Given the description of an element on the screen output the (x, y) to click on. 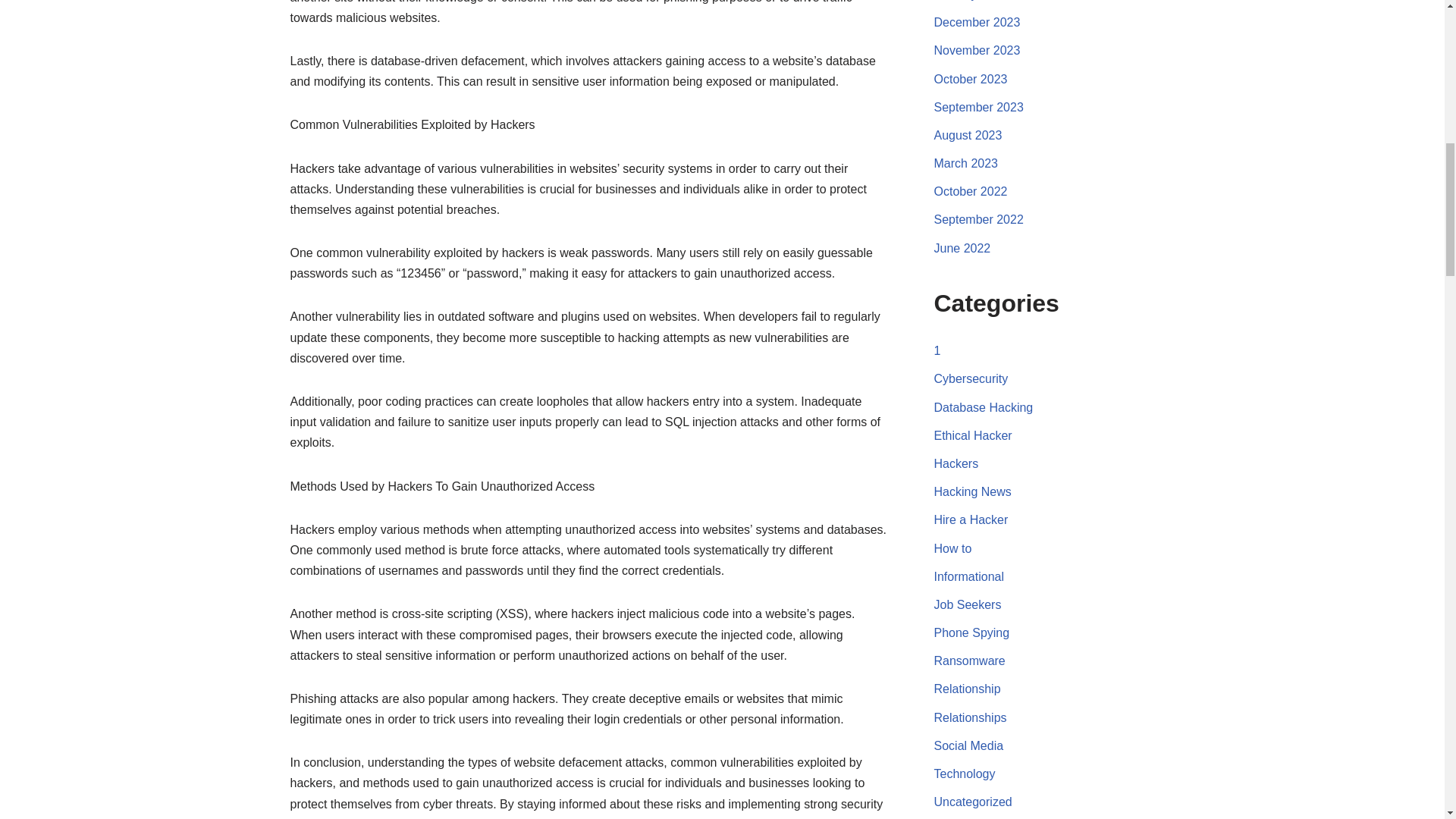
December 2023 (977, 21)
November 2023 (977, 50)
January 2024 (970, 0)
September 2023 (978, 106)
October 2023 (970, 78)
